Given the description of an element on the screen output the (x, y) to click on. 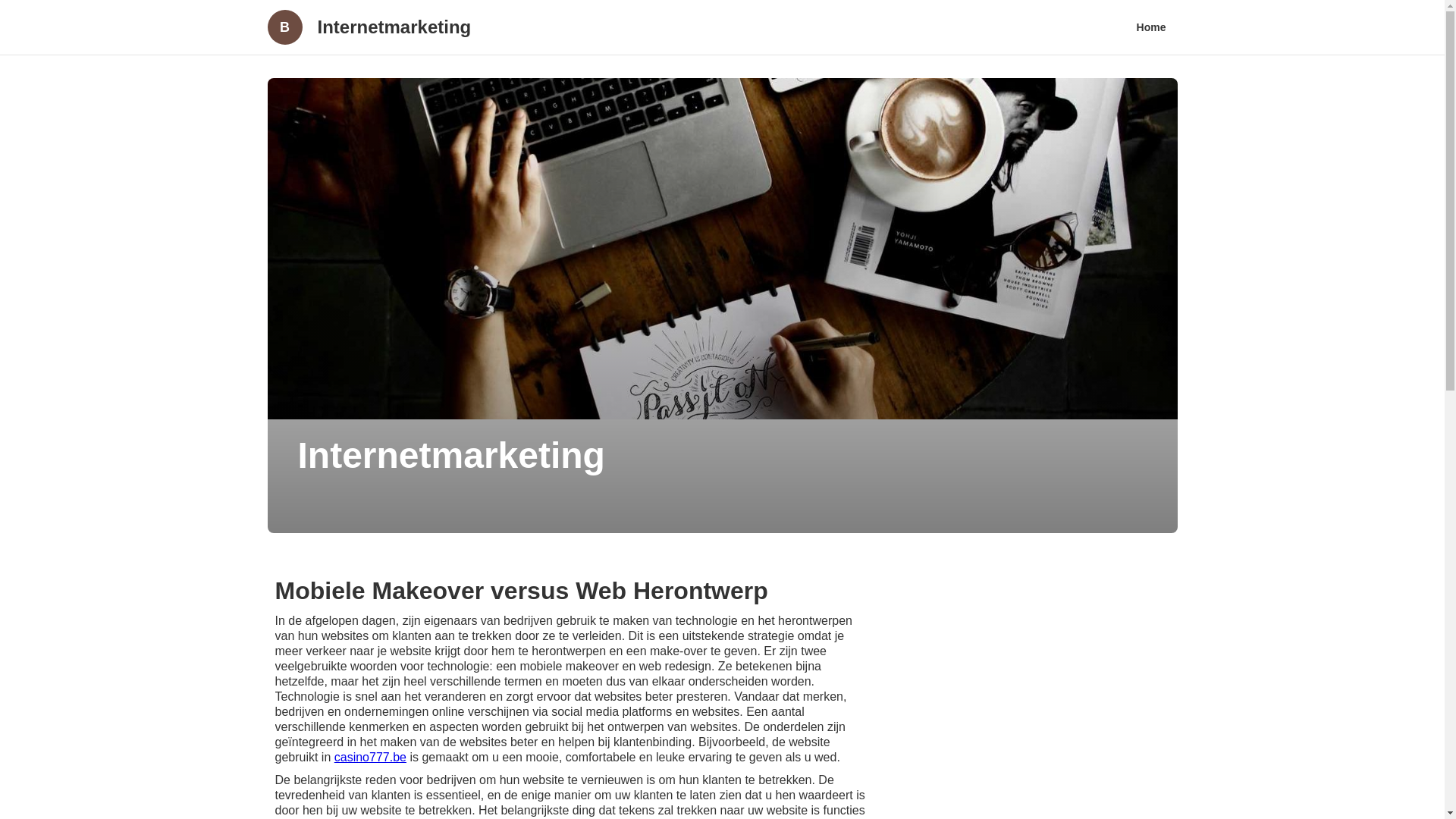
Home Element type: text (1151, 26)
casino777.be Element type: text (370, 756)
